Given the description of an element on the screen output the (x, y) to click on. 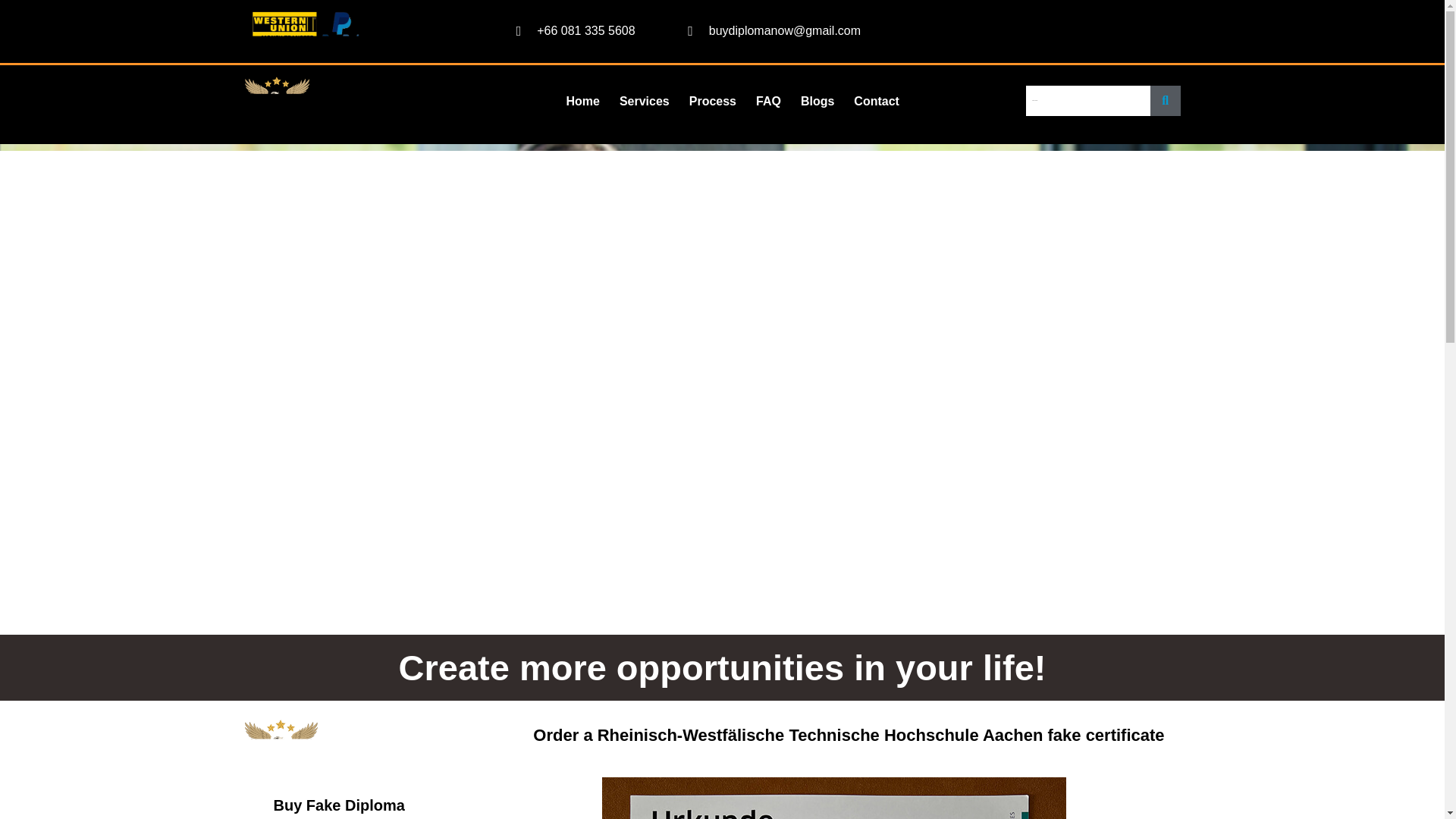
Home (582, 101)
Contact (876, 101)
FAQ (767, 101)
Services (644, 101)
Blogs (817, 101)
Process (712, 101)
Search (1088, 100)
